Given the description of an element on the screen output the (x, y) to click on. 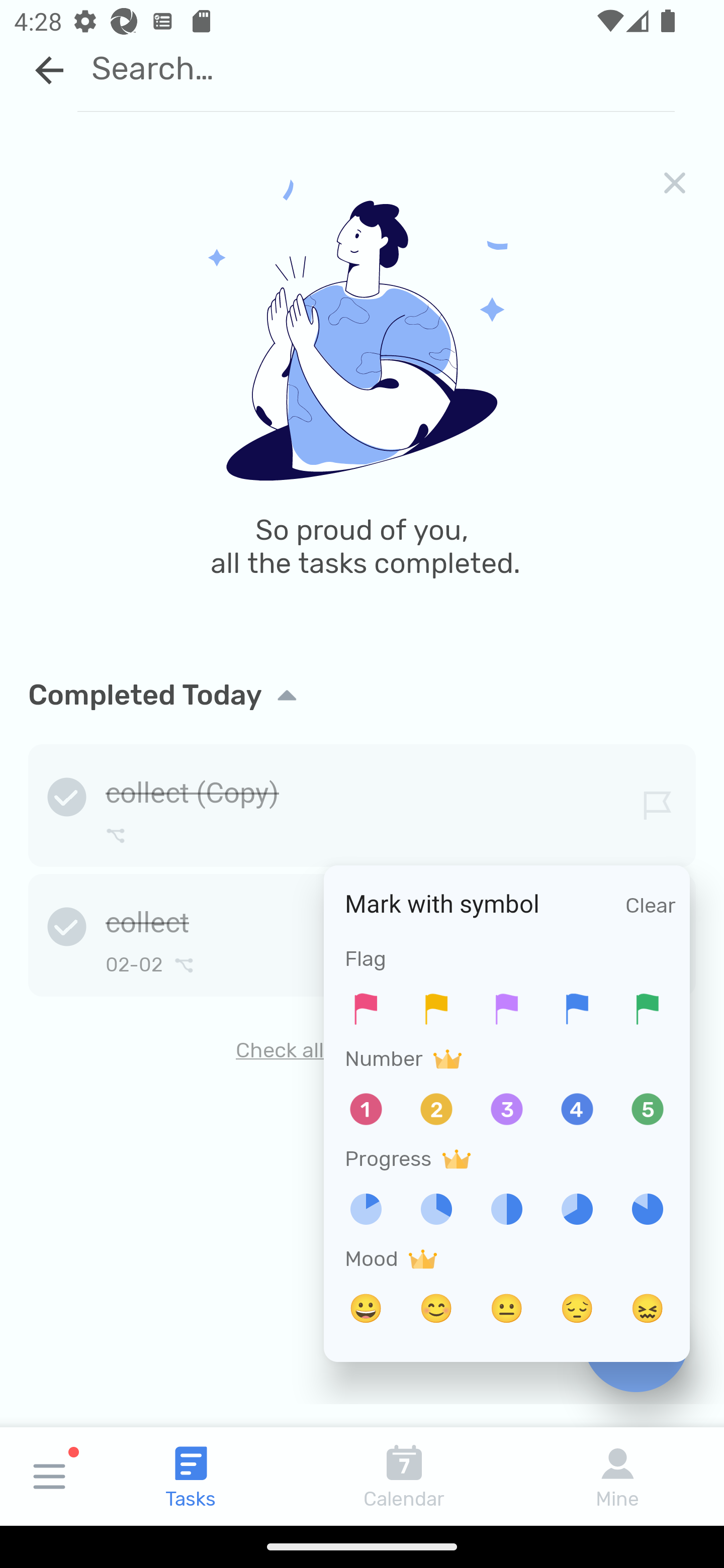
Clear (650, 905)
😀 (365, 1308)
😊 (436, 1308)
😐 (506, 1308)
😔 (576, 1308)
😖 (647, 1308)
